Given the description of an element on the screen output the (x, y) to click on. 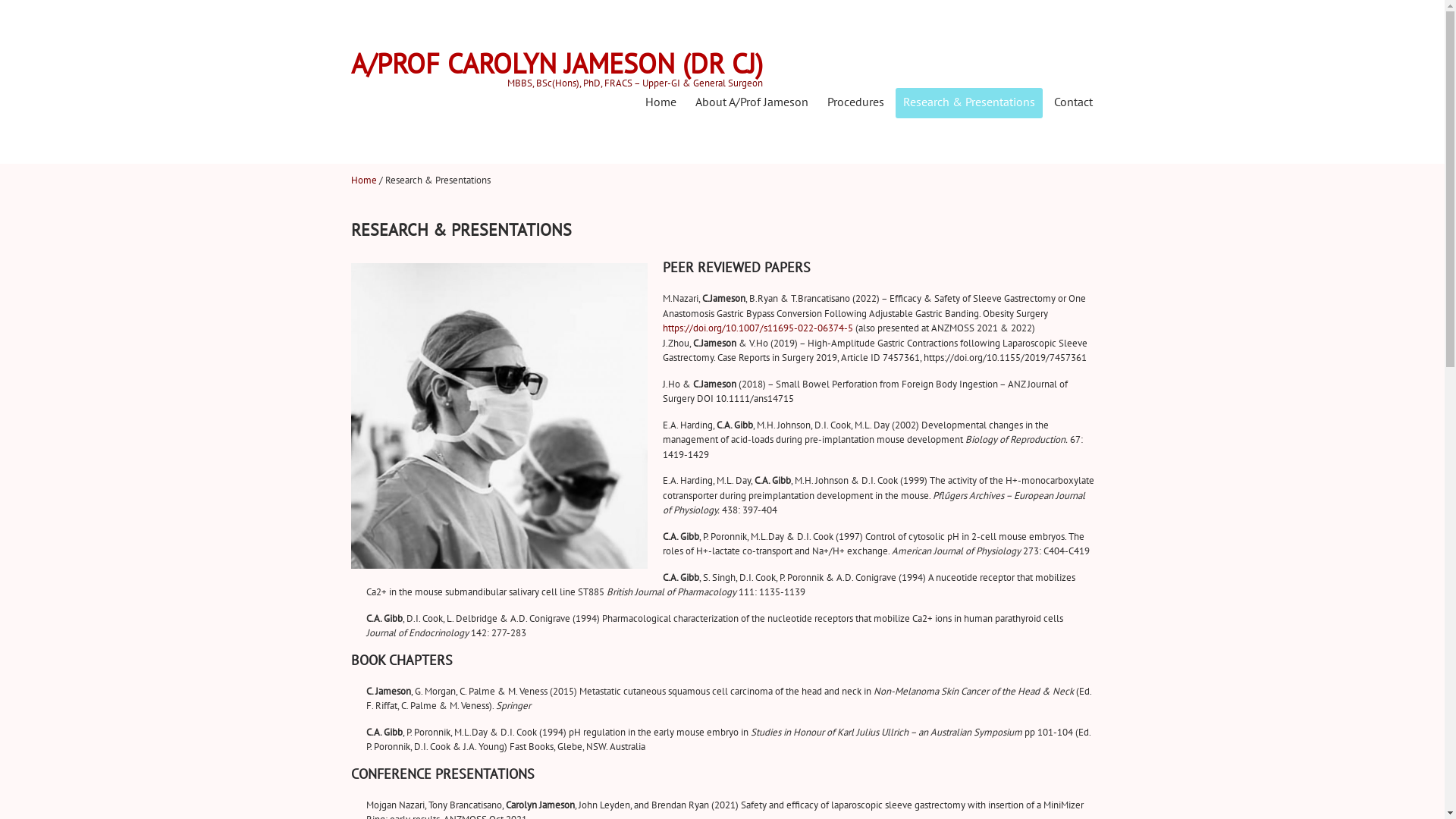
Procedures Element type: text (855, 102)
https://doi.org/10.1007/s11695-022-06374-5 Element type: text (757, 327)
Contact Element type: text (1073, 102)
Research & Presentations Element type: text (967, 102)
Home Element type: text (660, 102)
About A/Prof Jameson Element type: text (751, 102)
Home Element type: text (363, 179)
